Given the description of an element on the screen output the (x, y) to click on. 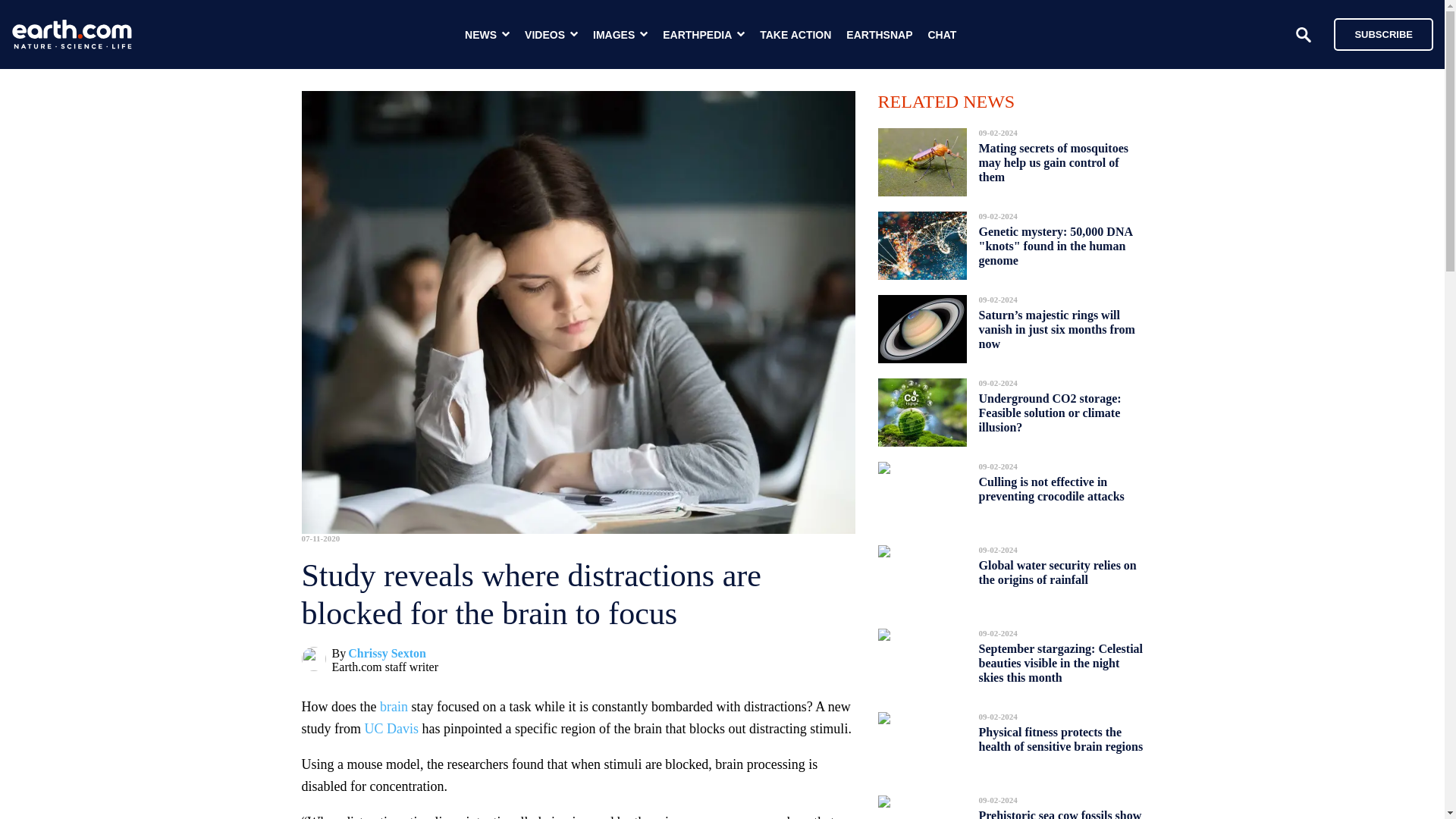
SUBSCRIBE (1375, 33)
brain (393, 706)
Chrissy Sexton (386, 653)
CHAT (941, 34)
TAKE ACTION (795, 34)
EARTHSNAP (878, 34)
